Given the description of an element on the screen output the (x, y) to click on. 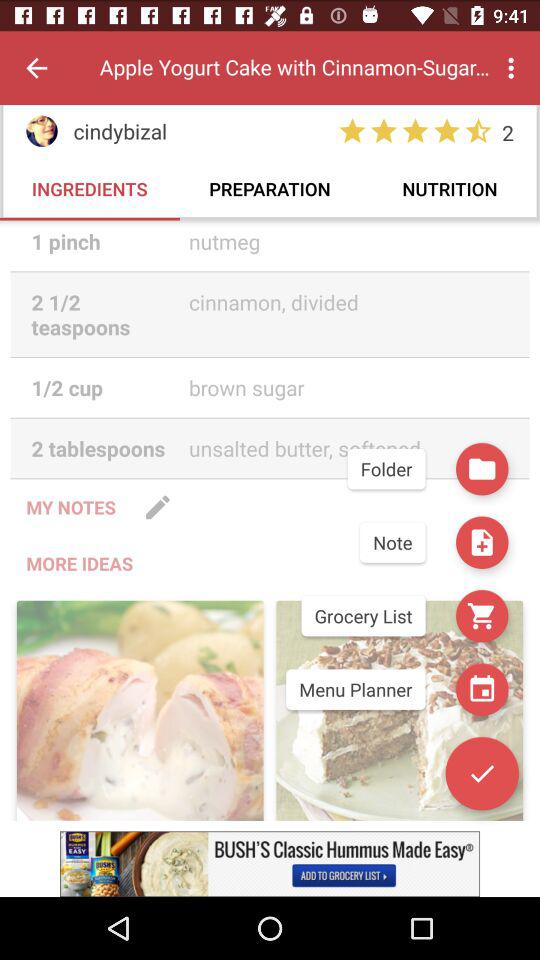
select the star icon on left to text 2 on the web page (478, 131)
